Given the description of an element on the screen output the (x, y) to click on. 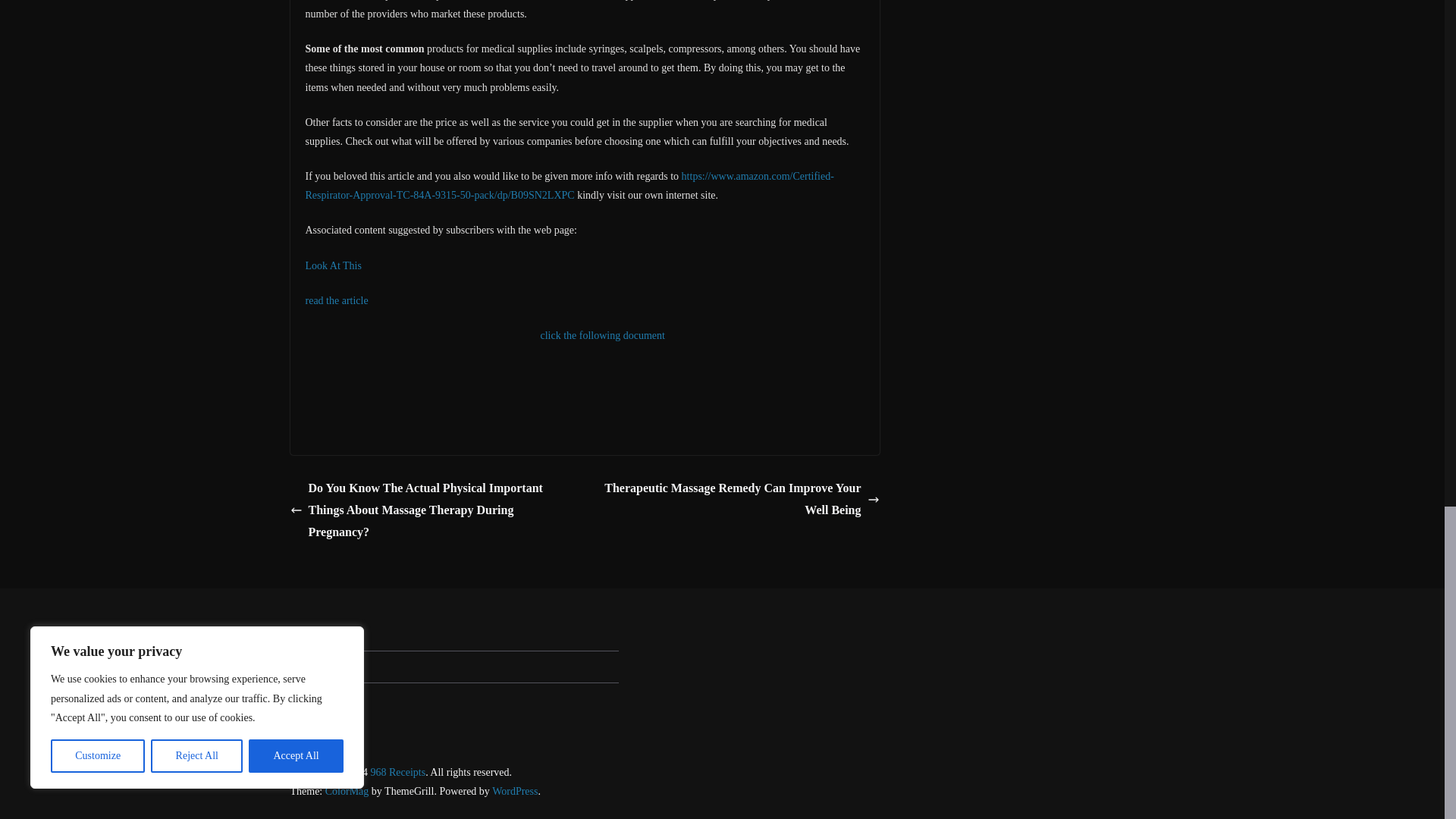
Therapeutic Massage Remedy Can Improve Your Well Being (735, 499)
click the following document (601, 335)
Look At This (332, 265)
read the article (336, 300)
ColorMag (346, 790)
968 Receipts (397, 772)
WordPress (514, 790)
